Given the description of an element on the screen output the (x, y) to click on. 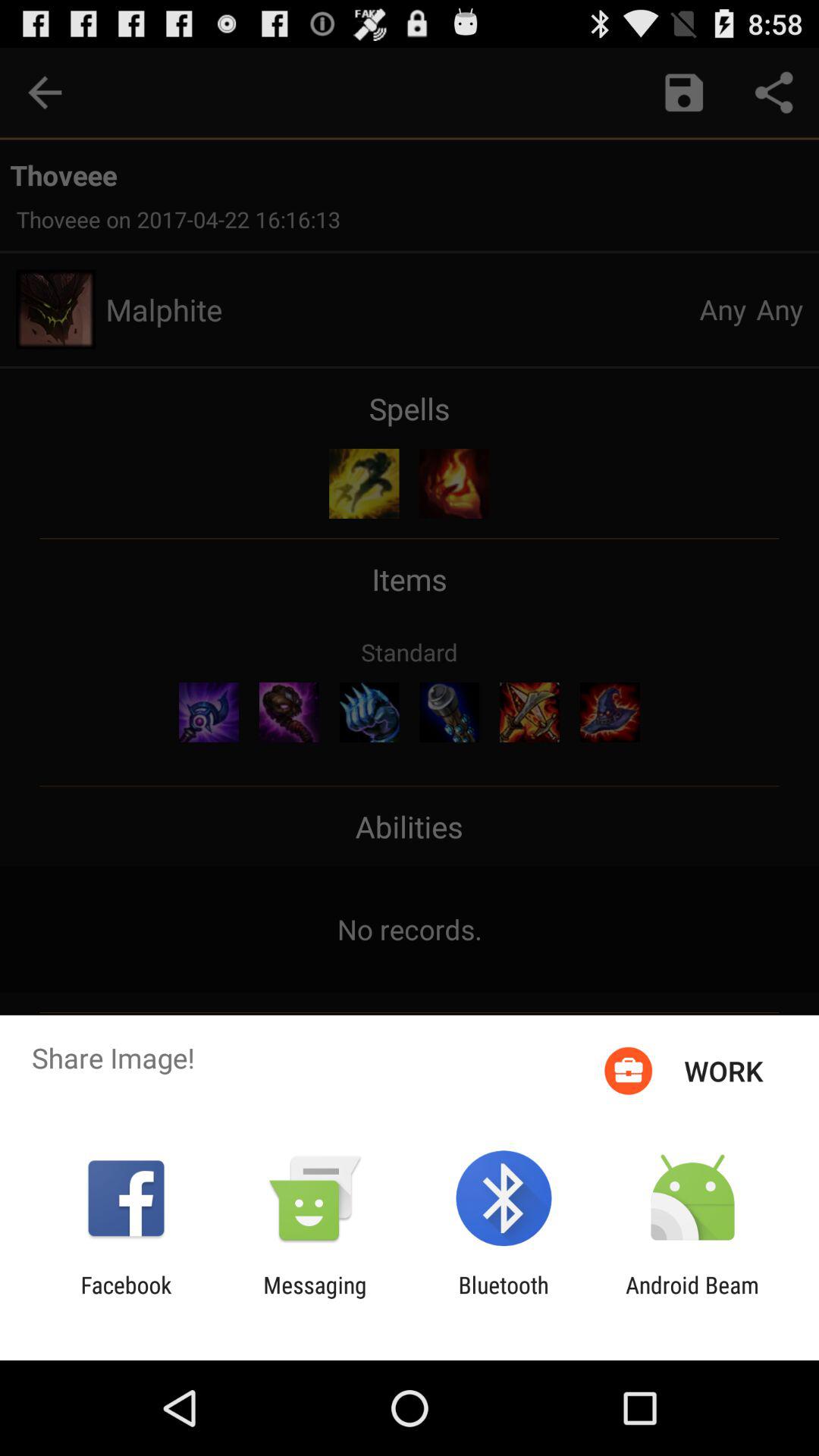
scroll to android beam icon (692, 1298)
